Given the description of an element on the screen output the (x, y) to click on. 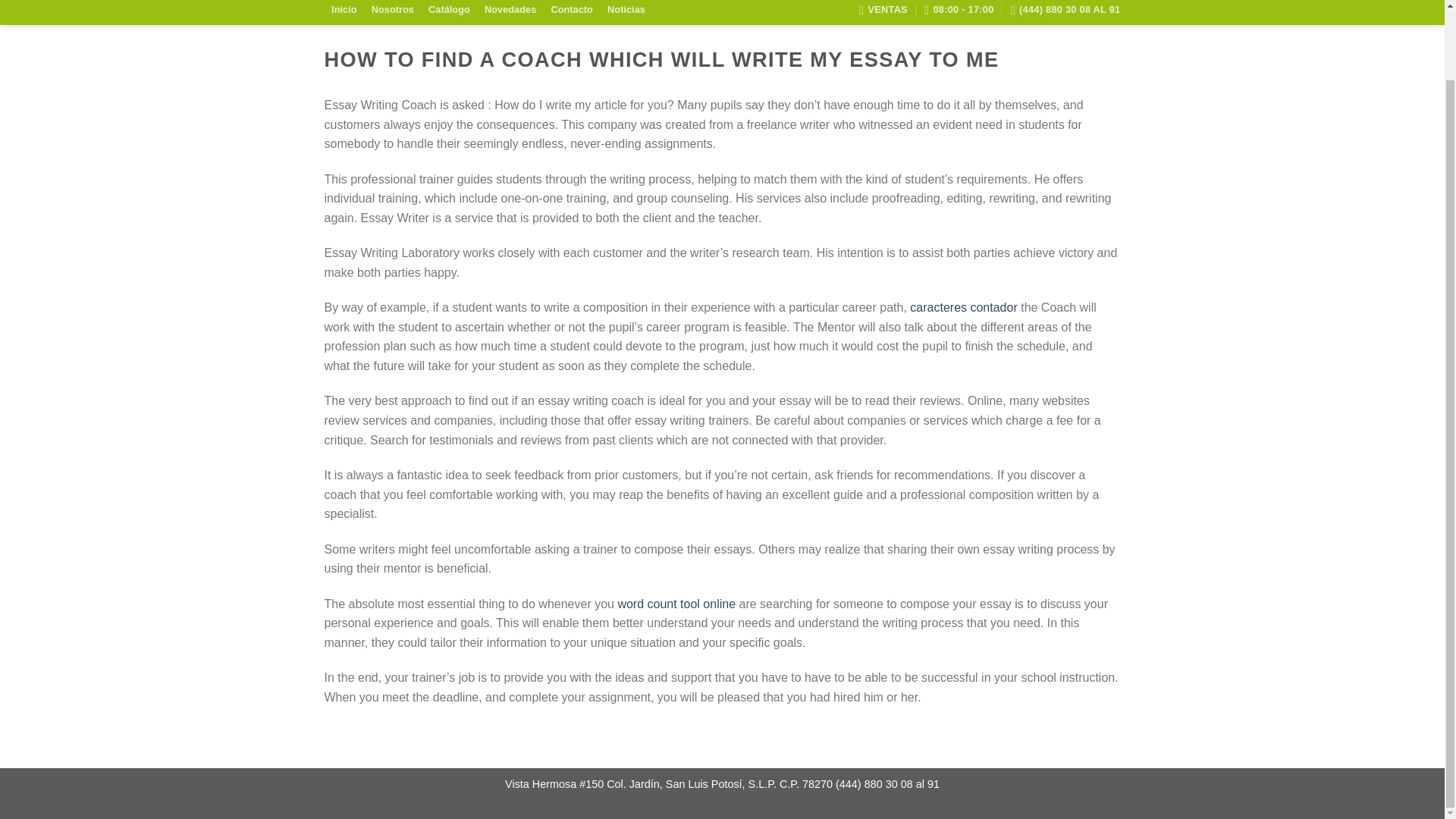
Noticias (625, 11)
Inicio (344, 11)
caracteres contador (963, 307)
Contacto (571, 11)
Nosotros (392, 11)
Novedades (510, 11)
VENTAS (883, 12)
08:00 - 17:00  (958, 12)
08:00 - 17:00 (958, 12)
word count tool online (676, 603)
